Given the description of an element on the screen output the (x, y) to click on. 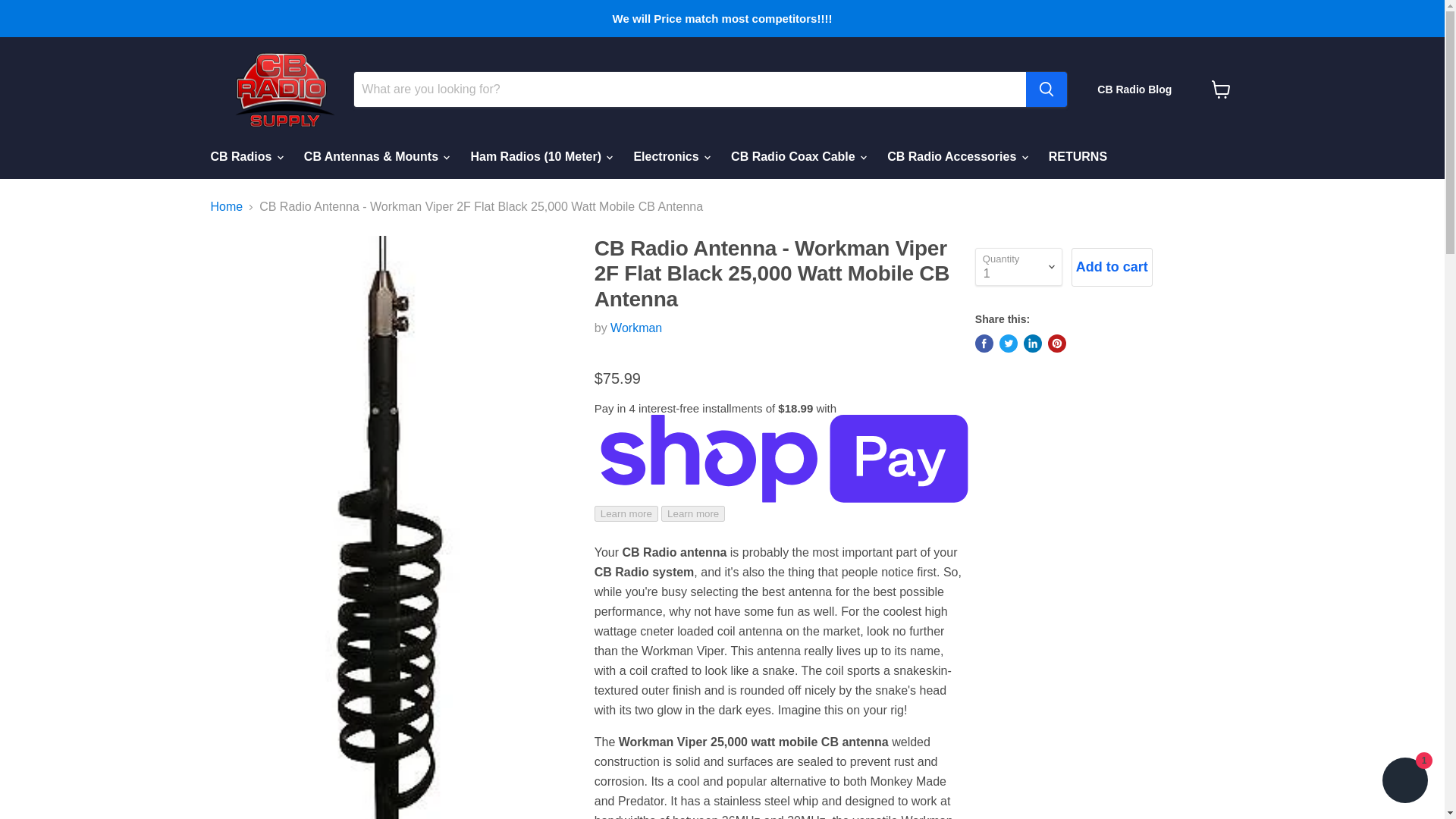
Shopify online store chat (1404, 781)
Workman (636, 327)
CB Radio Blog (1134, 89)
View cart (1221, 89)
